Given the description of an element on the screen output the (x, y) to click on. 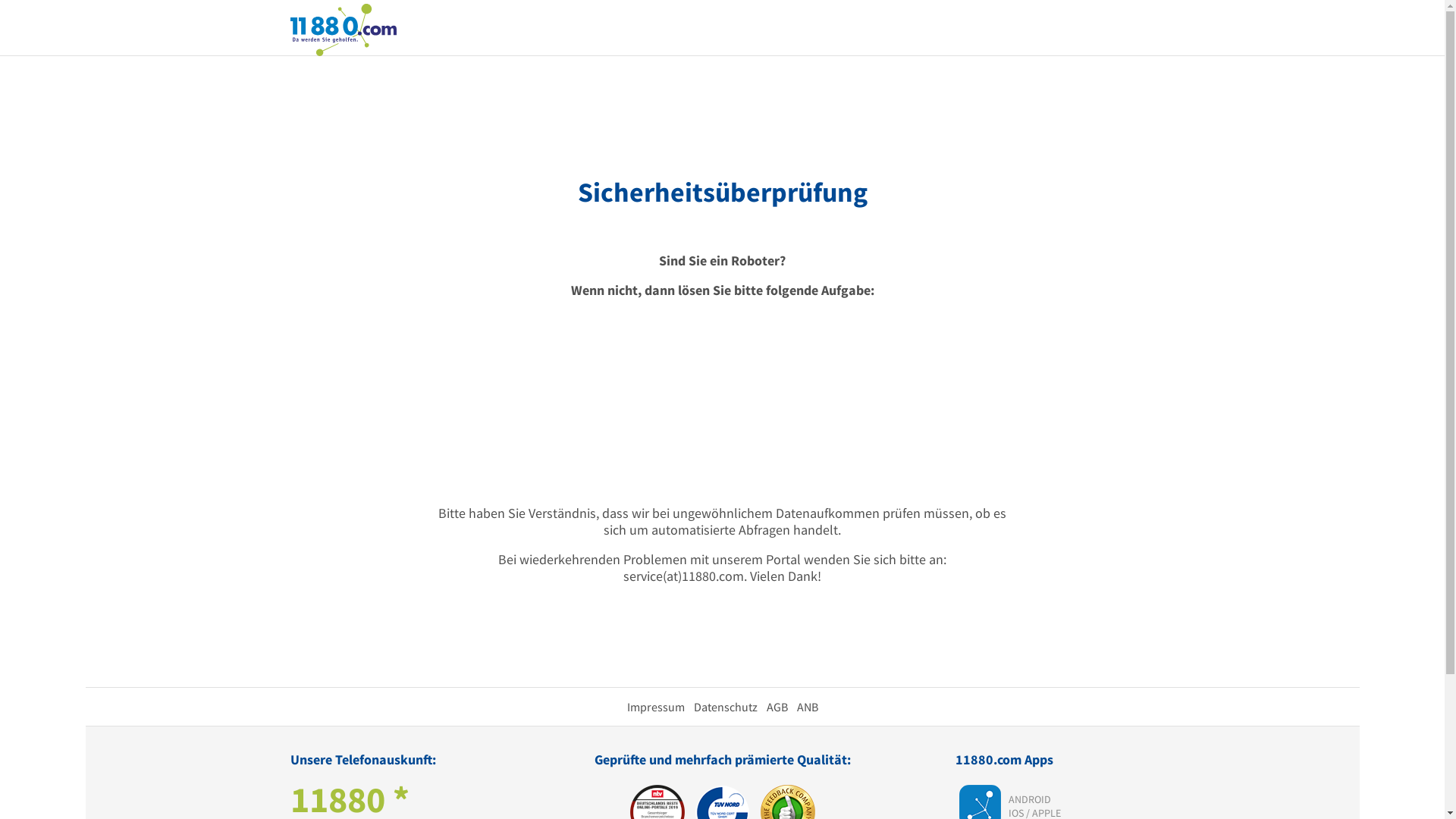
Impressum Element type: text (655, 706)
ANB Element type: text (806, 706)
Datenschutz Element type: text (724, 706)
11880.com Element type: hover (342, 28)
AGB Element type: text (776, 706)
